Given the description of an element on the screen output the (x, y) to click on. 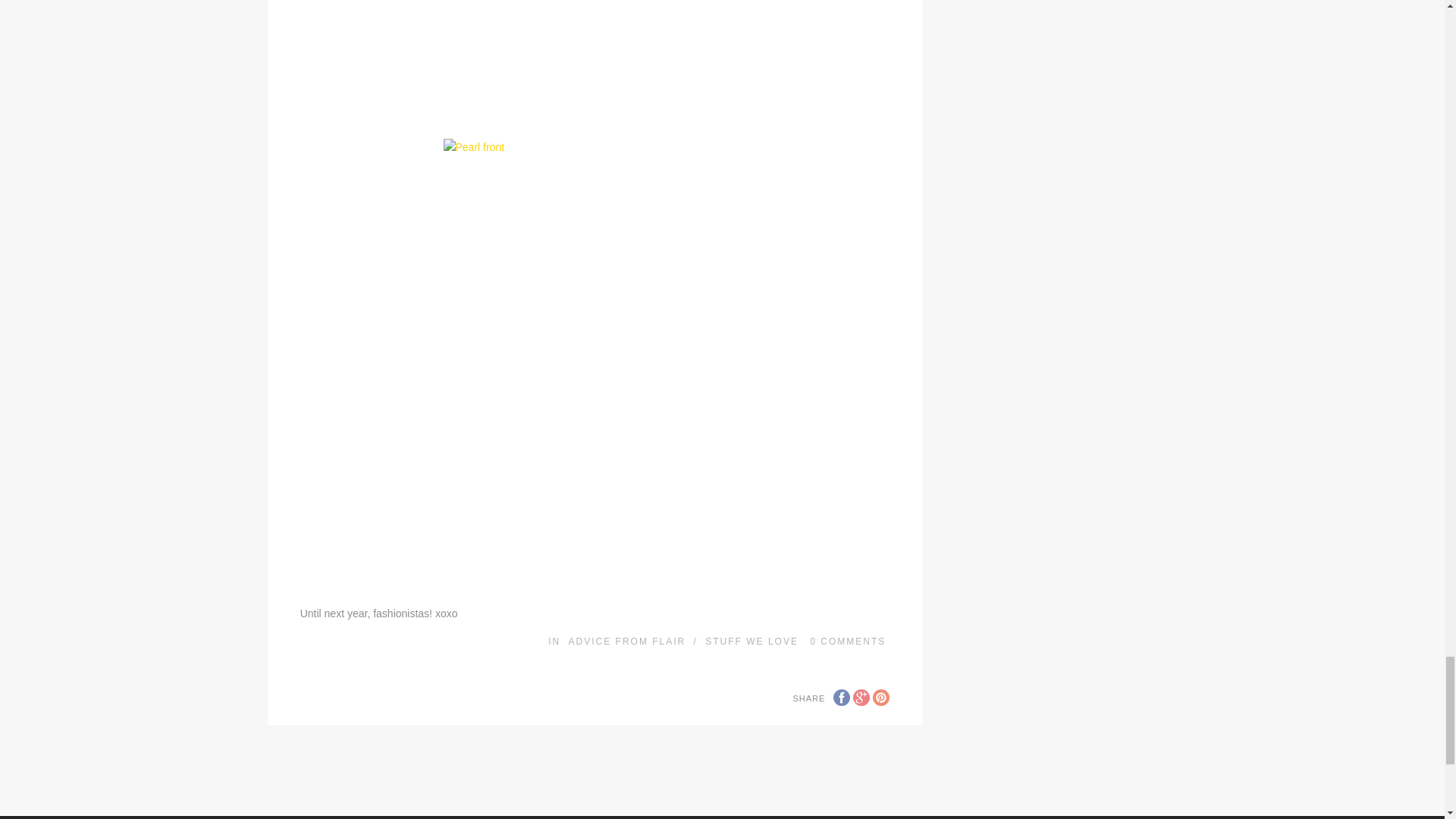
Pinterest (880, 697)
Facebook (841, 697)
